Given the description of an element on the screen output the (x, y) to click on. 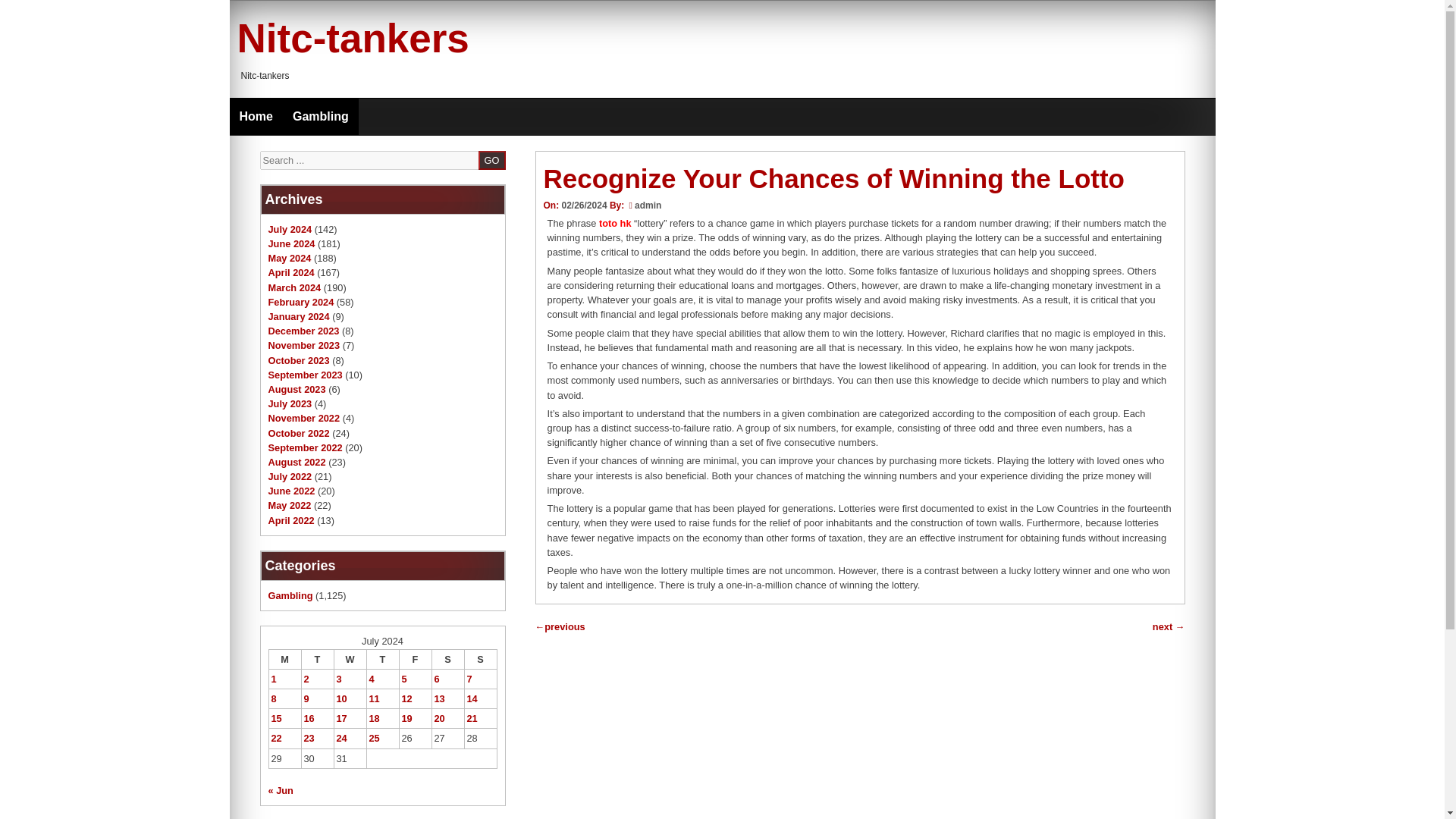
October 2023 (298, 360)
Friday (414, 659)
January 2024 (298, 316)
November 2023 (303, 345)
July 2022 (290, 476)
April 2024 (290, 272)
December 2023 (303, 330)
May 2022 (289, 505)
October 2022 (298, 432)
June 2024 (291, 243)
August 2023 (296, 389)
September 2022 (304, 447)
July 2024 (290, 229)
toto hk (614, 223)
August 2022 (296, 461)
